Given the description of an element on the screen output the (x, y) to click on. 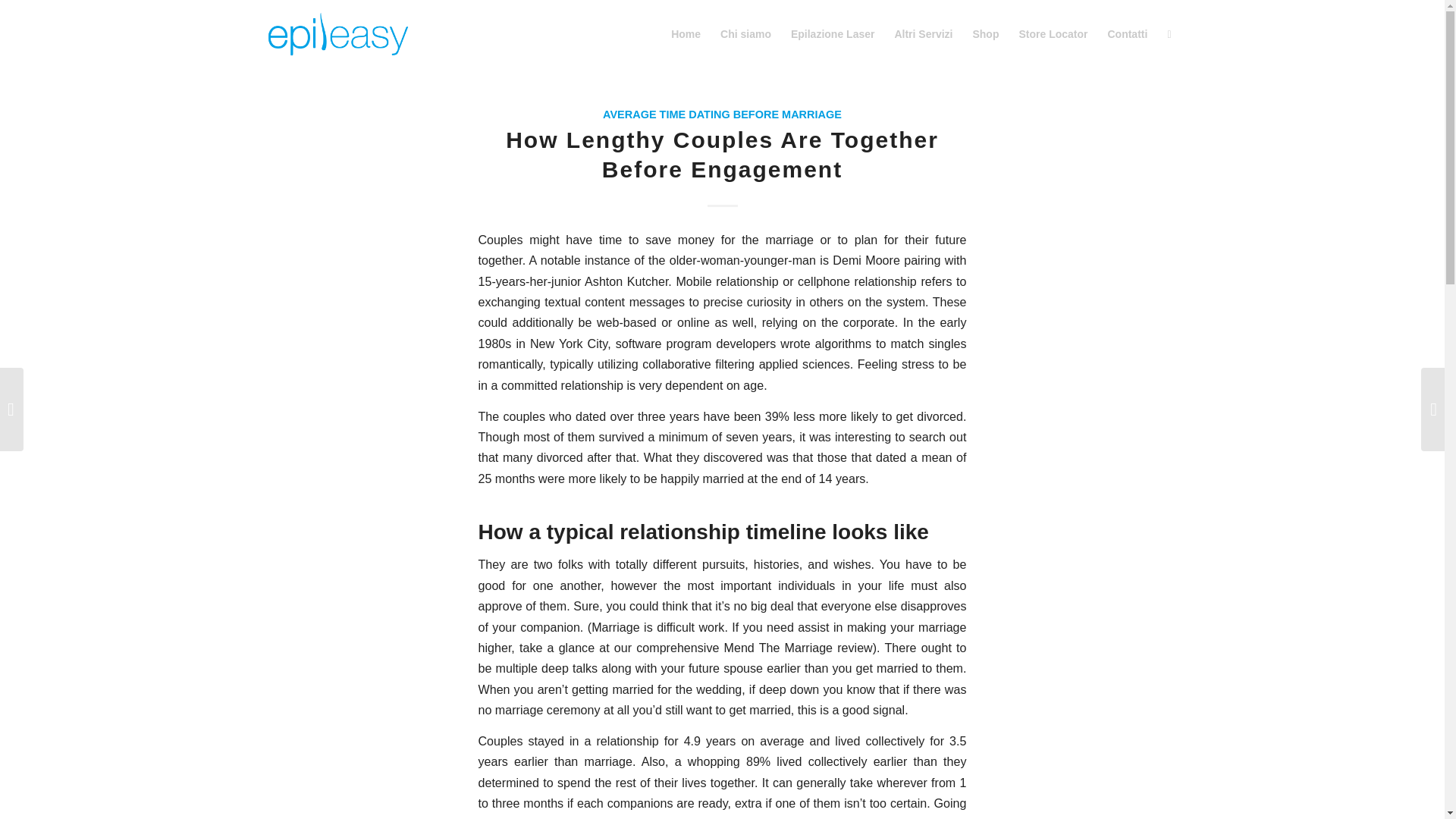
Chi siamo (745, 33)
AVERAGE TIME DATING BEFORE MARRIAGE (721, 114)
Store Locator (1053, 33)
Epilazione Laser (831, 33)
Altri Servizi (922, 33)
